Given the description of an element on the screen output the (x, y) to click on. 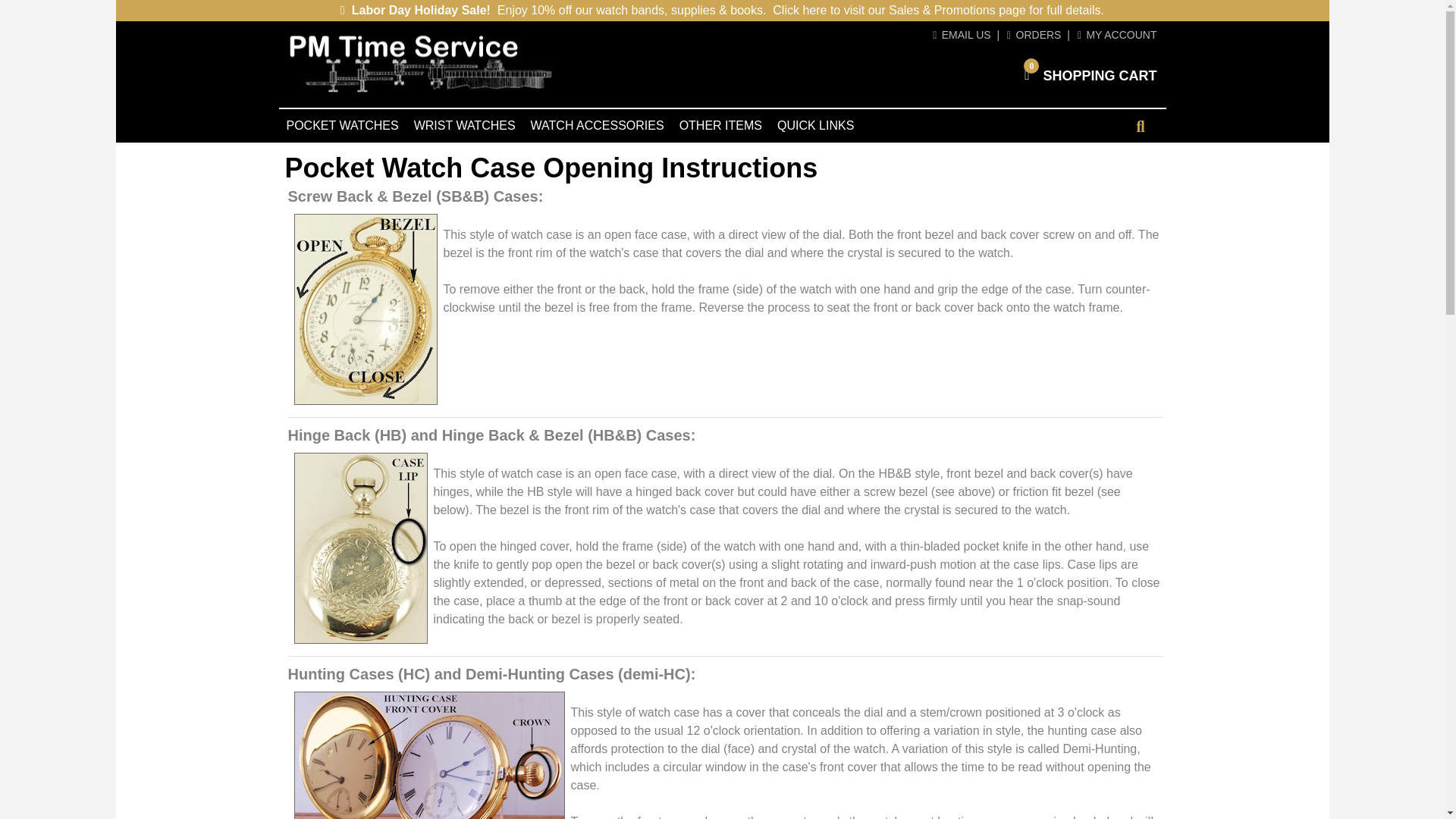
Welcome to PM Time Service (420, 63)
click to search (1090, 74)
click for larger photo (1140, 126)
ORDERS (429, 755)
EMAIL US (1034, 34)
MY ACCOUNT (961, 34)
POCKET WATCHES (1117, 34)
WRIST WATCHES (342, 125)
